Given the description of an element on the screen output the (x, y) to click on. 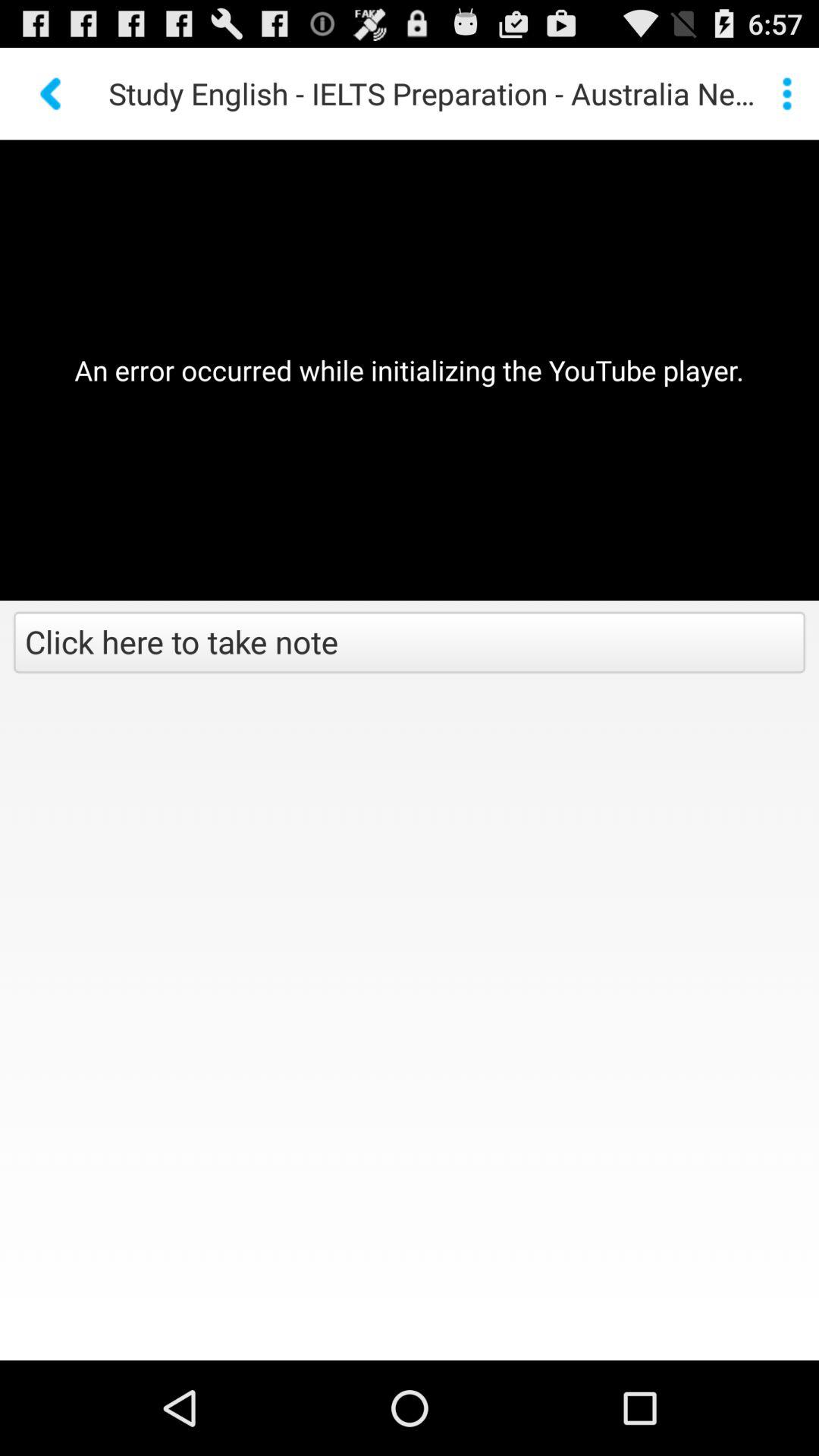
scroll until click here to (409, 643)
